Given the description of an element on the screen output the (x, y) to click on. 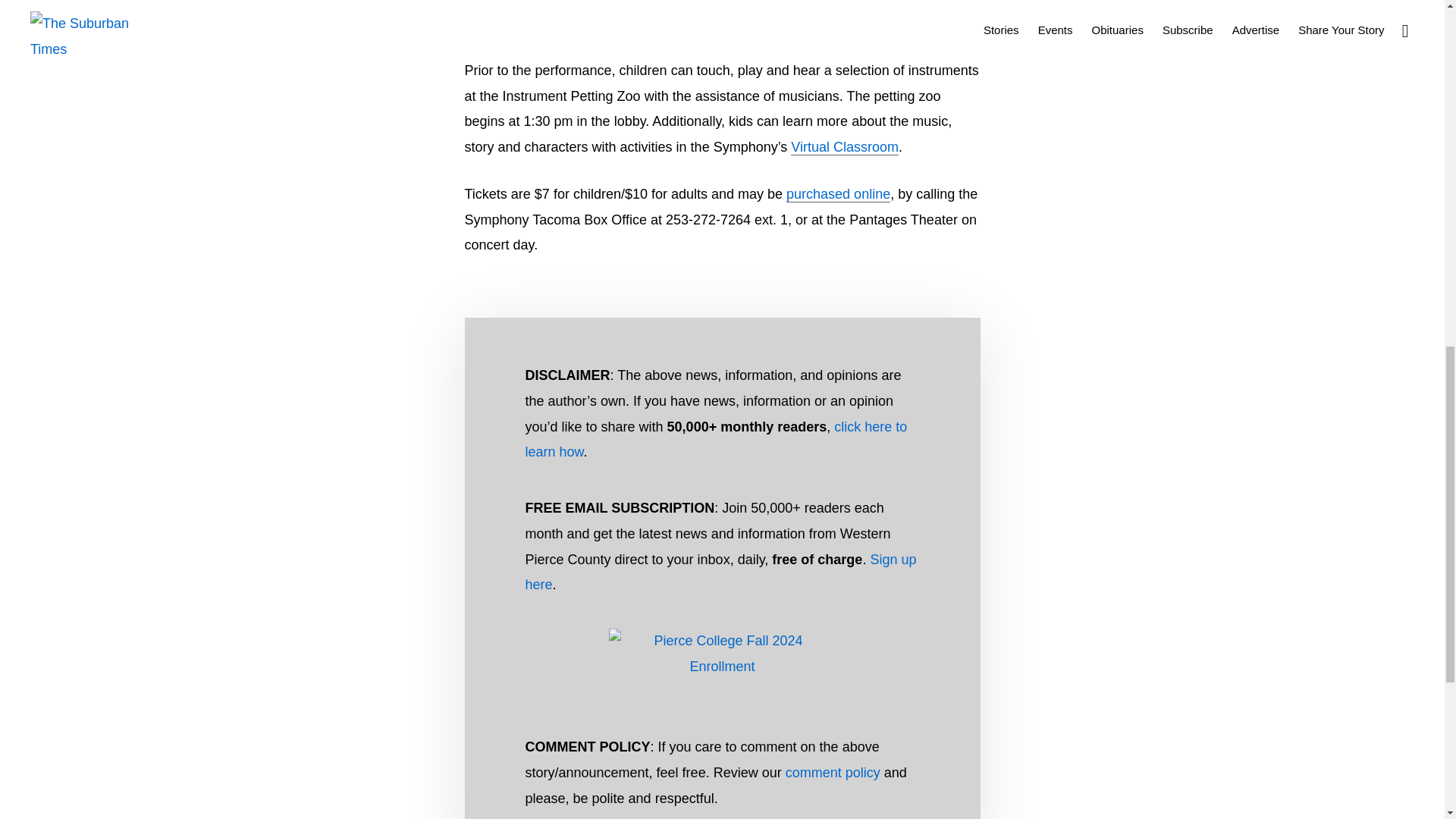
click here to learn how (715, 439)
Virtual Classroom (844, 147)
Sign up here (719, 572)
comment policy (833, 772)
purchased online (837, 194)
